Given the description of an element on the screen output the (x, y) to click on. 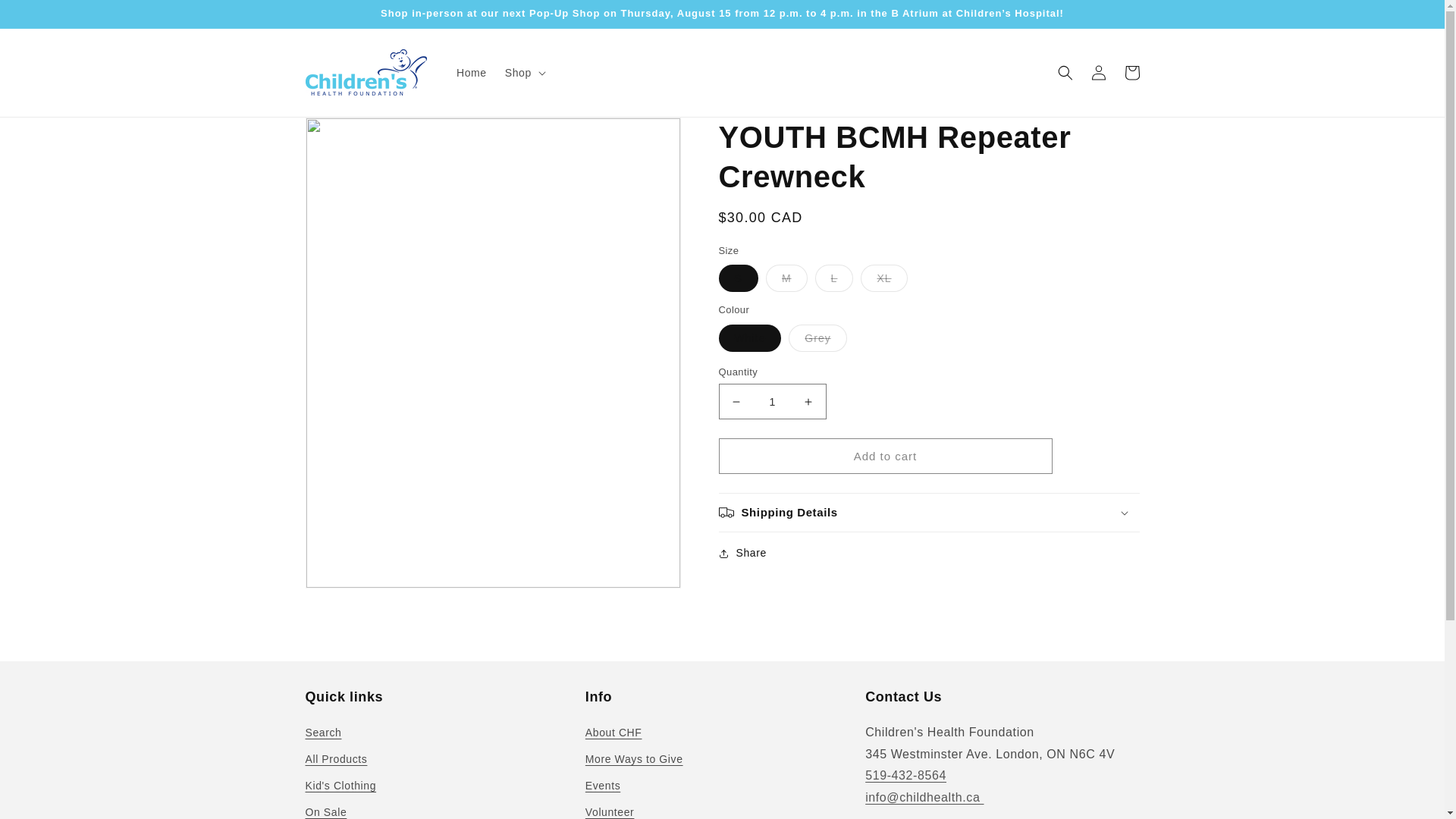
Add to cart (885, 456)
Skip to content (45, 17)
Search (322, 734)
Decrease quantity for YOUTH BCMH Repeater Crewneck (735, 401)
1 (773, 401)
Skip to product information (350, 134)
Increase quantity for YOUTH BCMH Repeater Crewneck (808, 401)
